Given the description of an element on the screen output the (x, y) to click on. 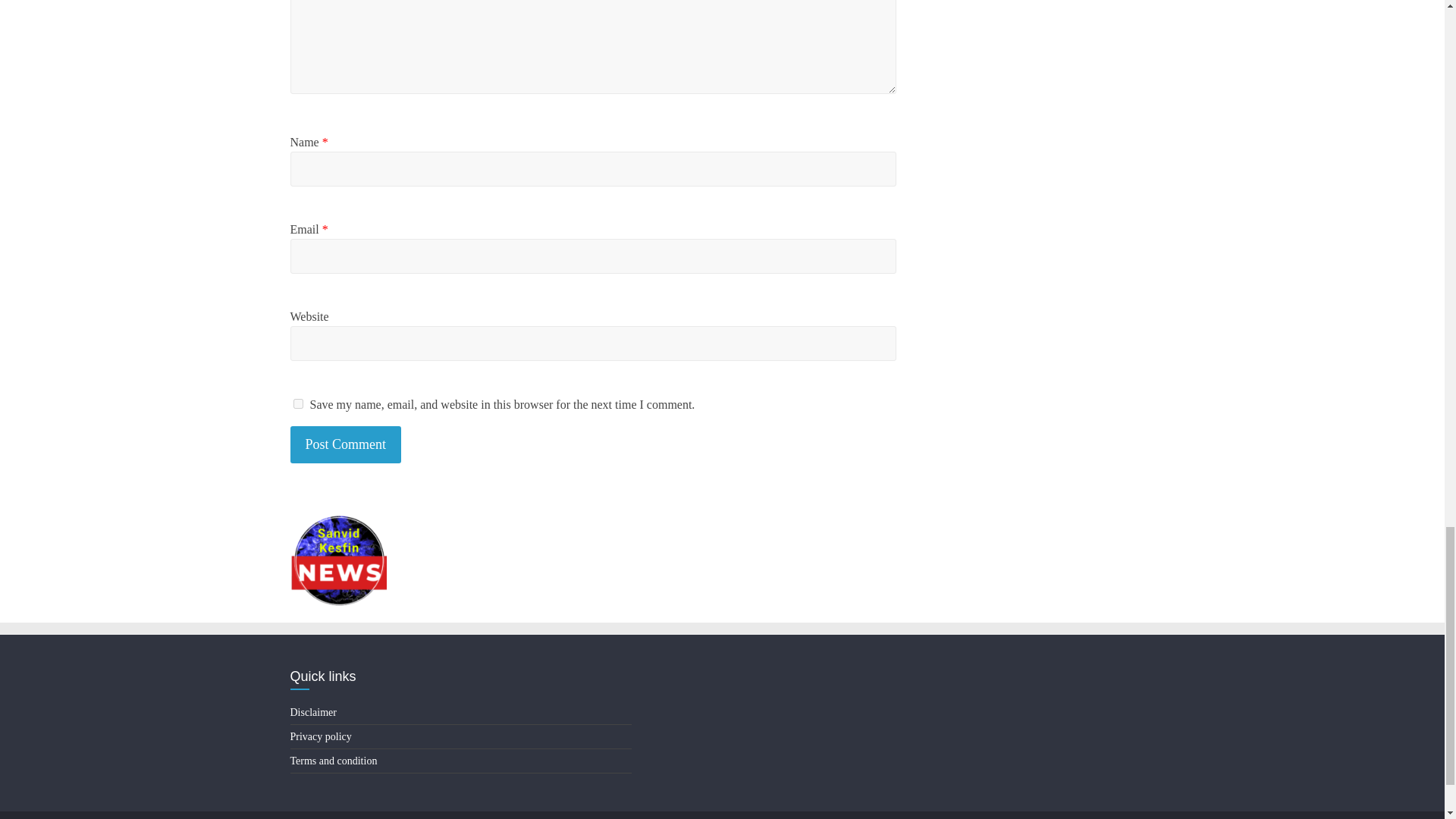
yes (297, 403)
Post Comment (345, 444)
